Given the description of an element on the screen output the (x, y) to click on. 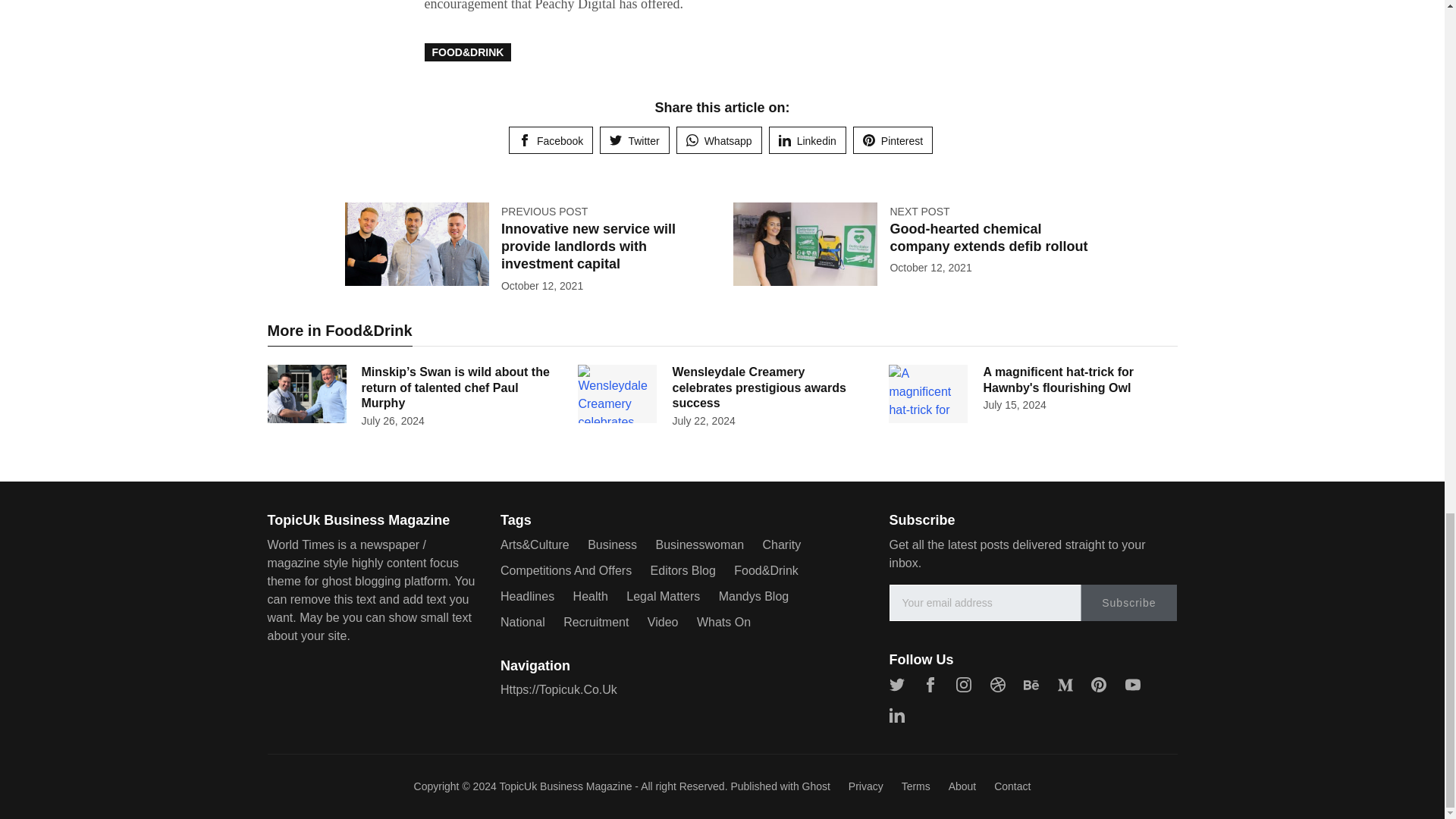
Share on Whatsapp (719, 139)
Share on Twitter (633, 139)
Good-hearted chemical company extends defib rollout (988, 237)
Facebook (550, 139)
Linkedin (806, 139)
Share on Linkedin (806, 139)
Whatsapp (719, 139)
12 October, 2021 (541, 285)
12 October, 2021 (930, 267)
22 July, 2024 (703, 420)
15 July, 2024 (1013, 404)
PREVIOUS POST (544, 211)
NEXT POST (919, 211)
Pinterest (893, 139)
